Given the description of an element on the screen output the (x, y) to click on. 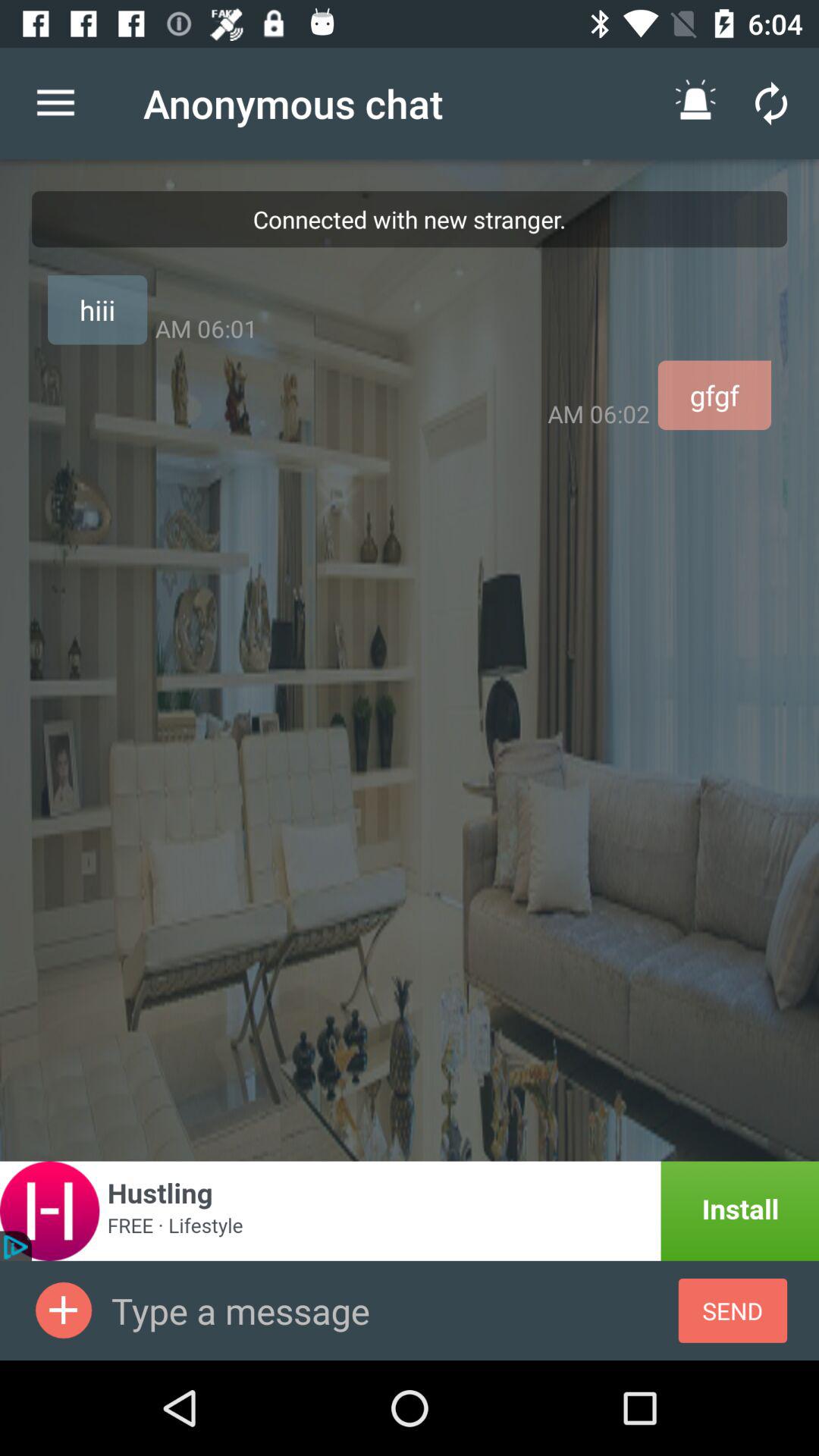
add message (63, 1310)
